Given the description of an element on the screen output the (x, y) to click on. 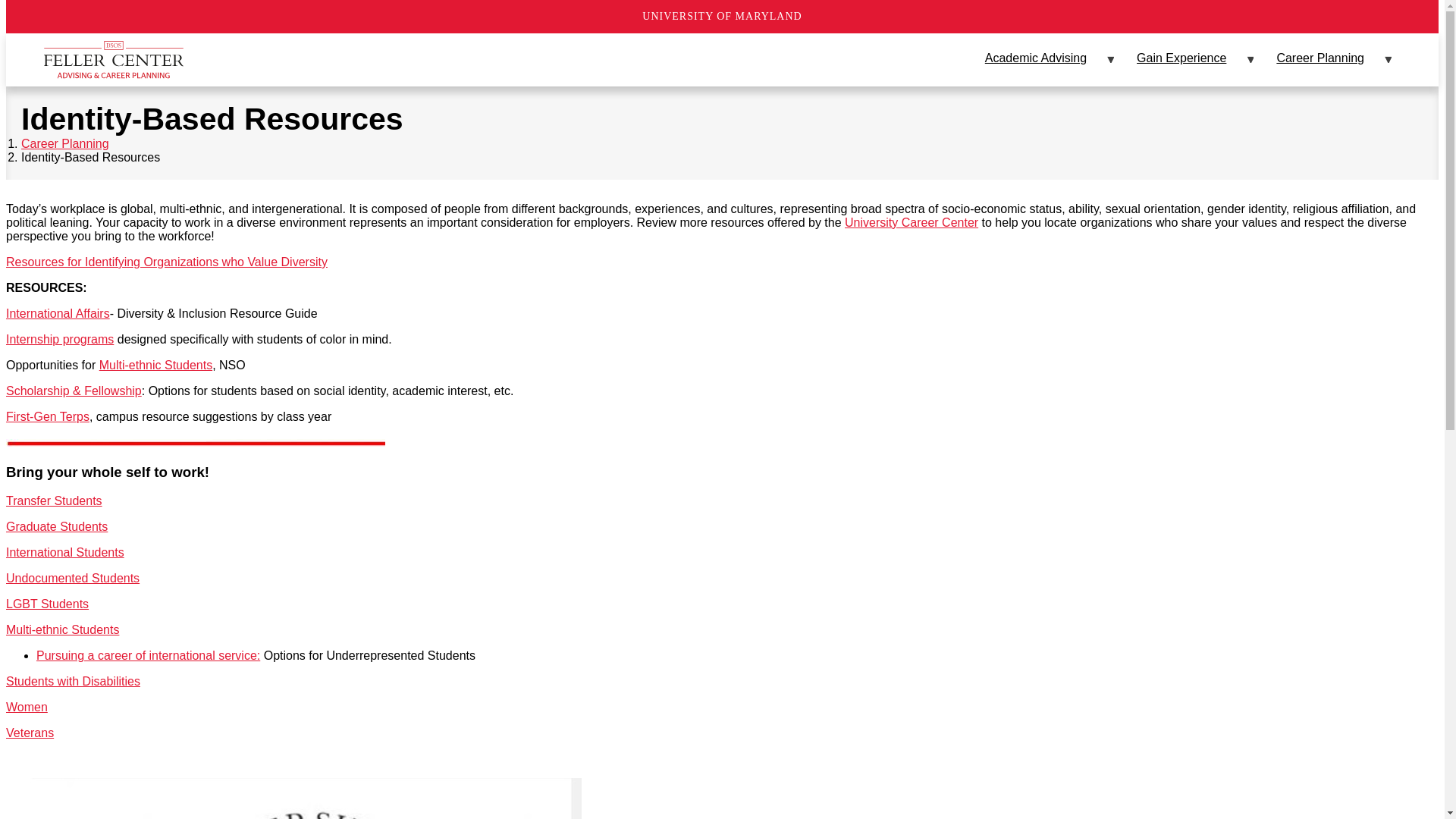
Home (113, 59)
UNIVERSITY OF MARYLAND (722, 16)
